Given the description of an element on the screen output the (x, y) to click on. 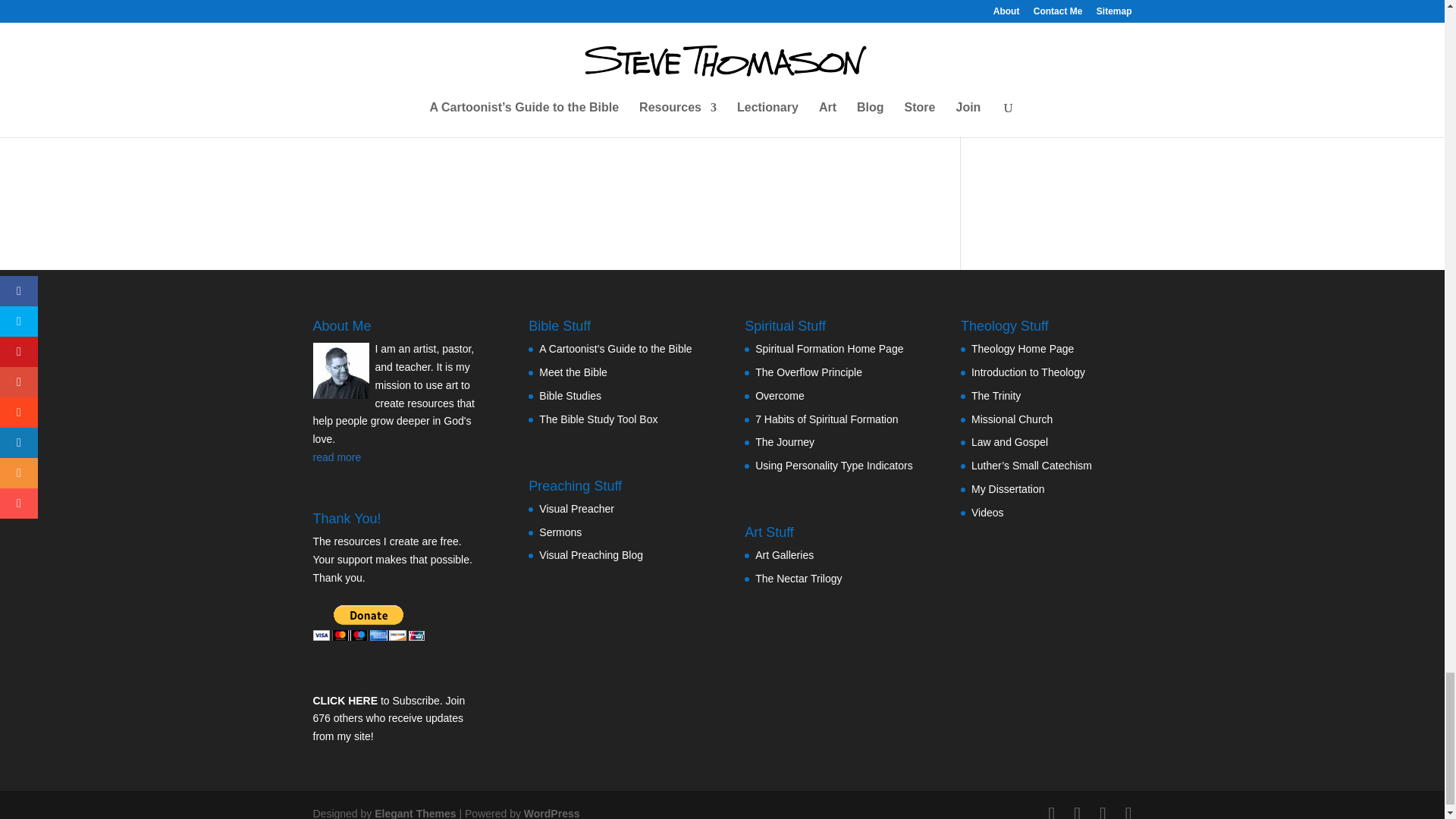
Submit Comment (840, 117)
PayPal - The safer, easier way to pay online! (368, 622)
subscribe (319, 8)
subscribe (319, 59)
Premium WordPress Themes (414, 813)
